Given the description of an element on the screen output the (x, y) to click on. 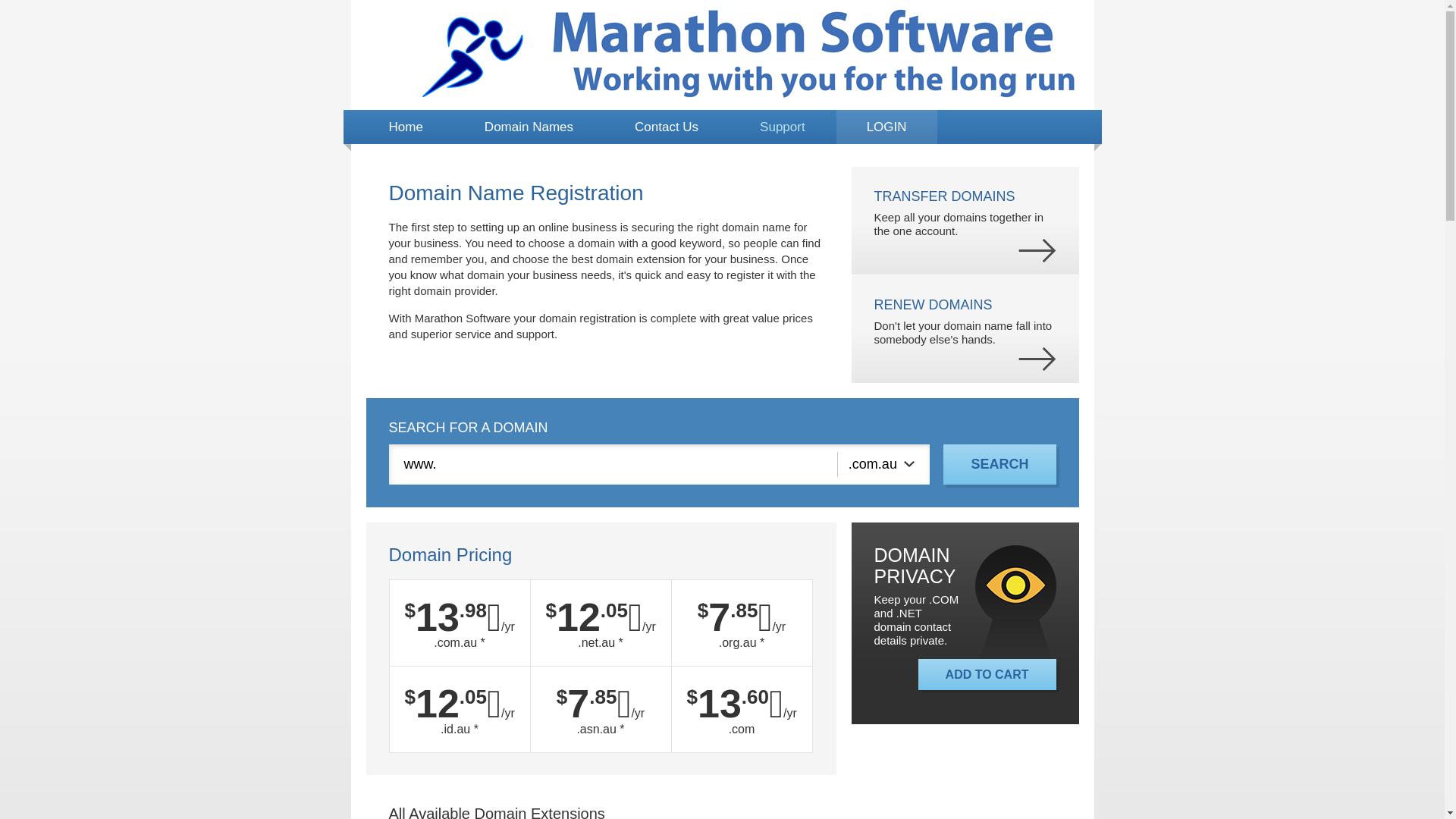
RENEW DOMAINS Element type: text (932, 304)
LOGIN Element type: text (886, 126)
ADD TO CART Element type: text (987, 674)
Support Element type: text (782, 126)
Renew now Element type: text (1036, 358)
Transfer now Element type: text (1036, 250)
TRANSFER DOMAINS Element type: text (943, 195)
Home Element type: text (404, 126)
Search Element type: text (999, 464)
Contact Us Element type: text (666, 126)
Domain Names Element type: text (528, 126)
